Given the description of an element on the screen output the (x, y) to click on. 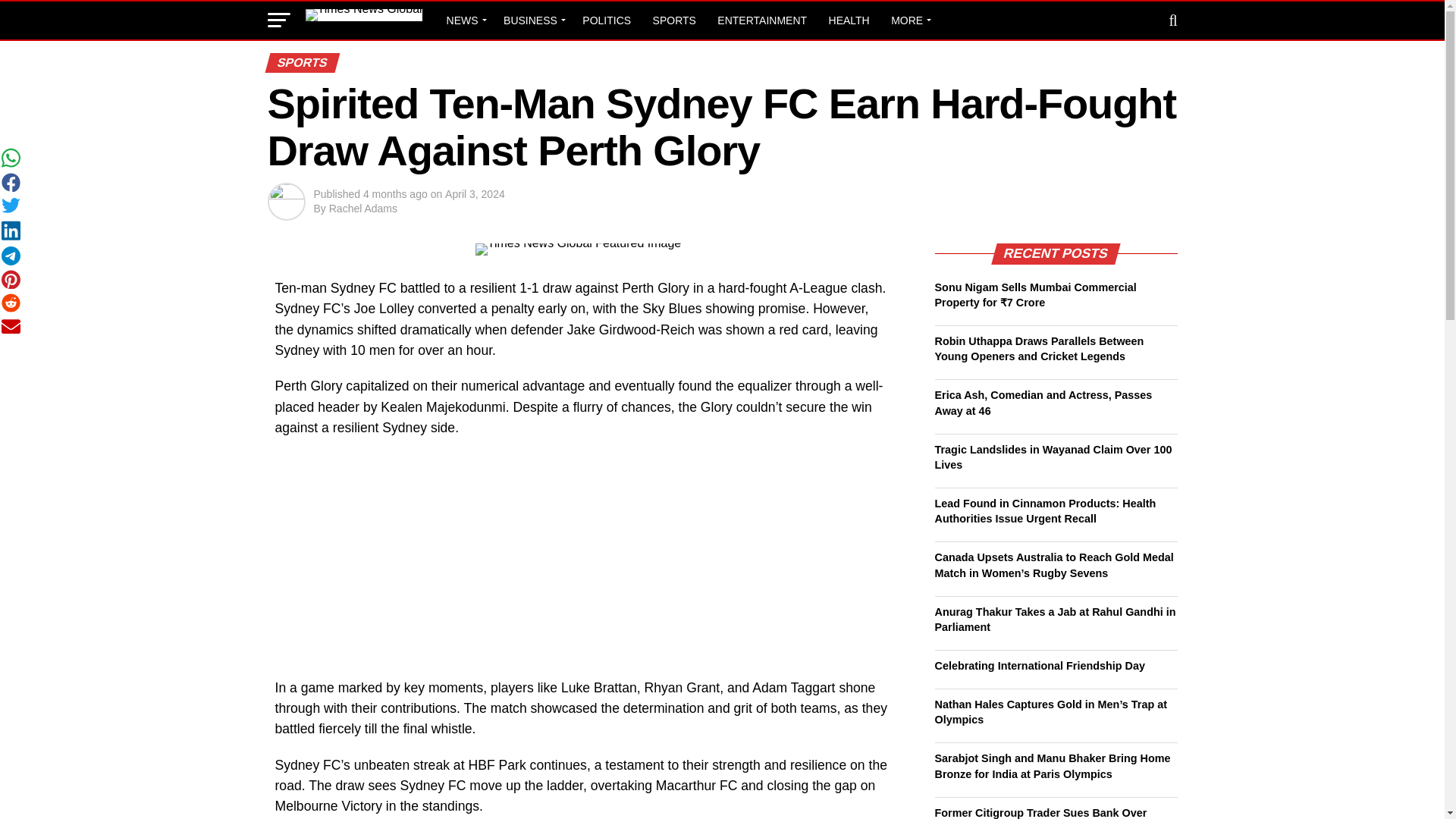
NEWS (465, 20)
POLITICS (606, 20)
Times News Global (363, 15)
BUSINESS (532, 20)
ENTERTAINMENT (761, 20)
HEALTH (849, 20)
SPORTS (673, 20)
